Given the description of an element on the screen output the (x, y) to click on. 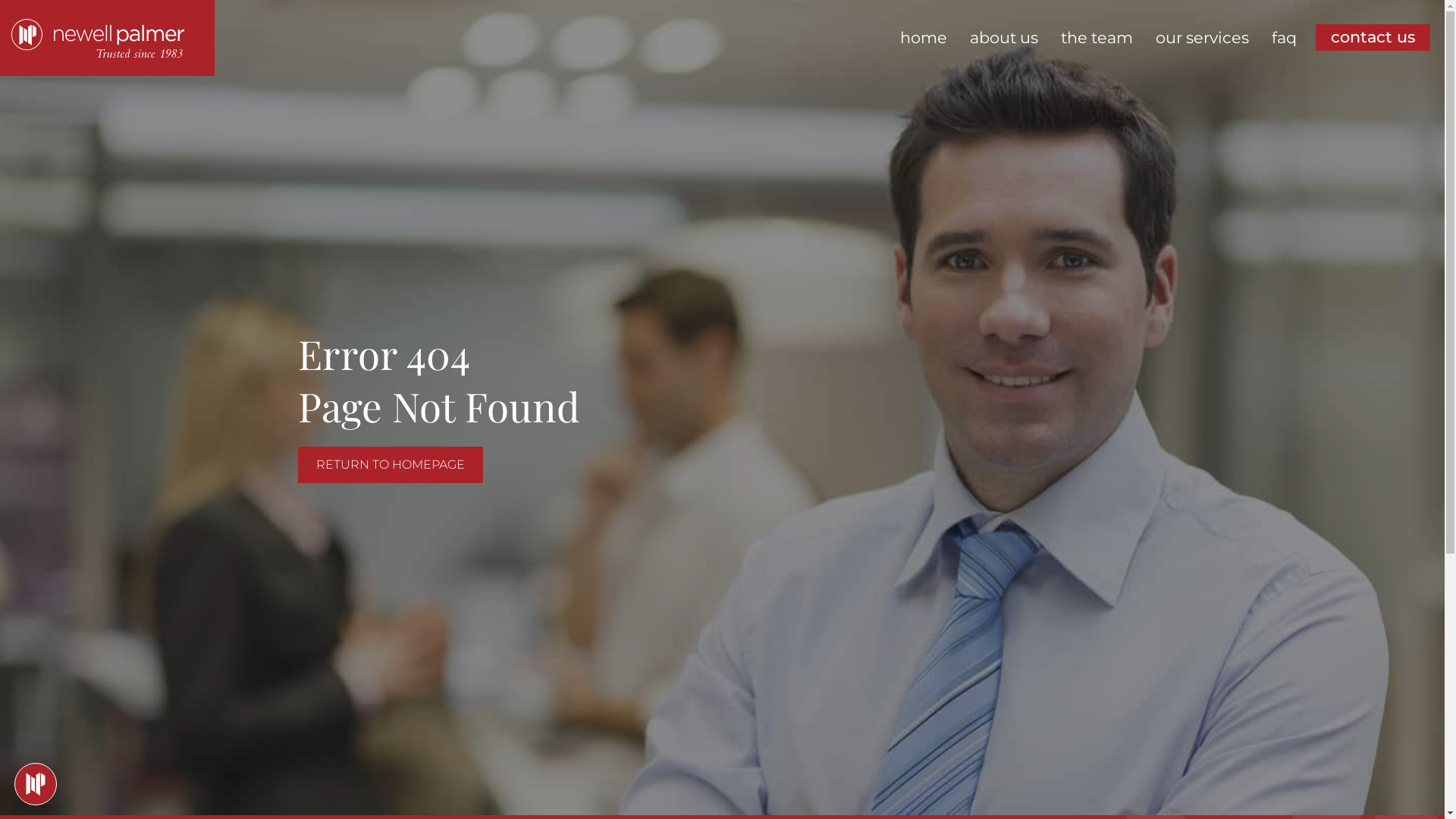
home Element type: text (923, 38)
our services Element type: text (1202, 38)
RETURN TO HOMEPAGE Element type: text (389, 464)
the team Element type: text (1096, 38)
contact us Element type: text (1372, 37)
faq Element type: text (1284, 38)
about us Element type: text (1003, 38)
